Given the description of an element on the screen output the (x, y) to click on. 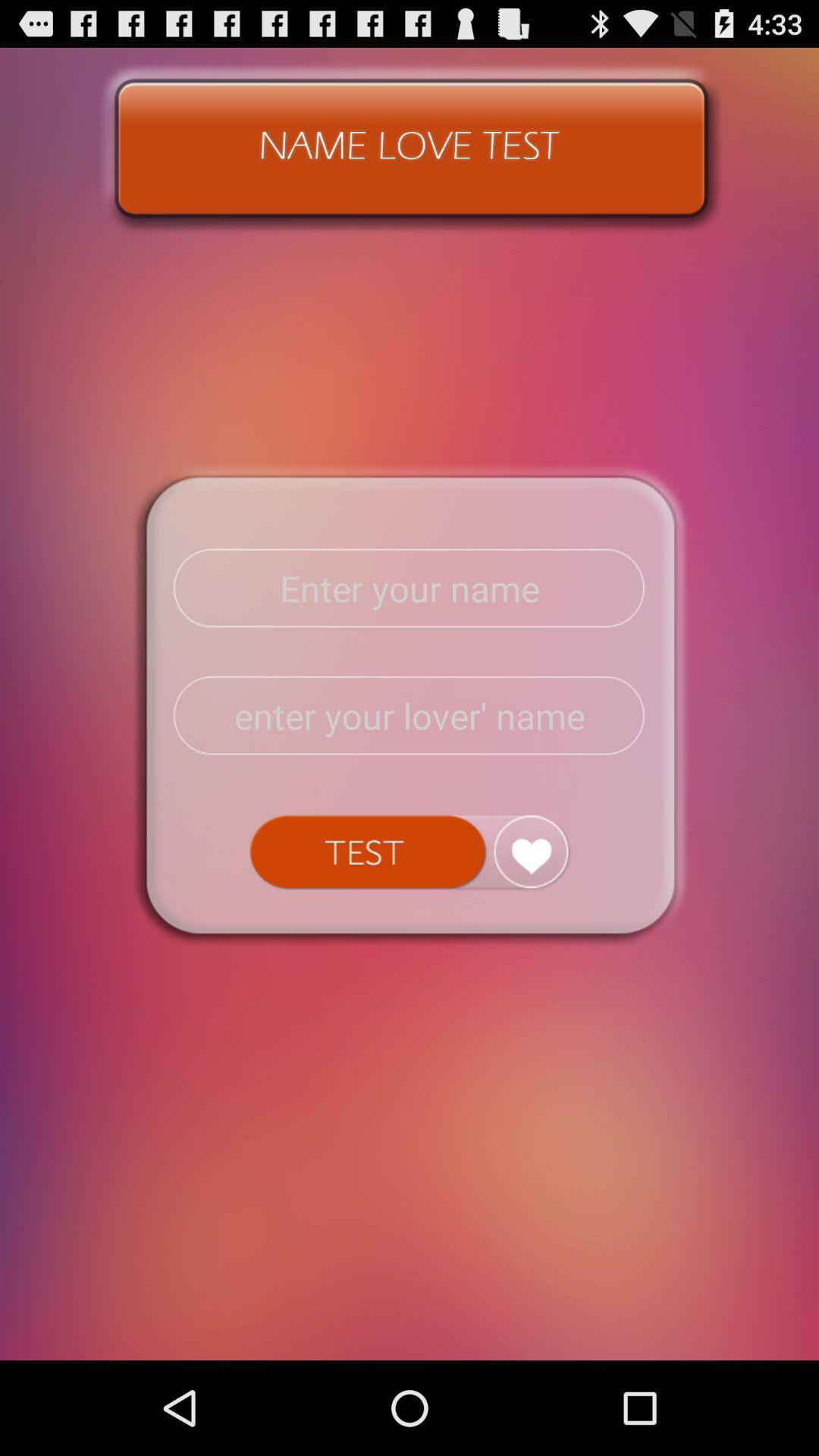
test button (408, 851)
